Given the description of an element on the screen output the (x, y) to click on. 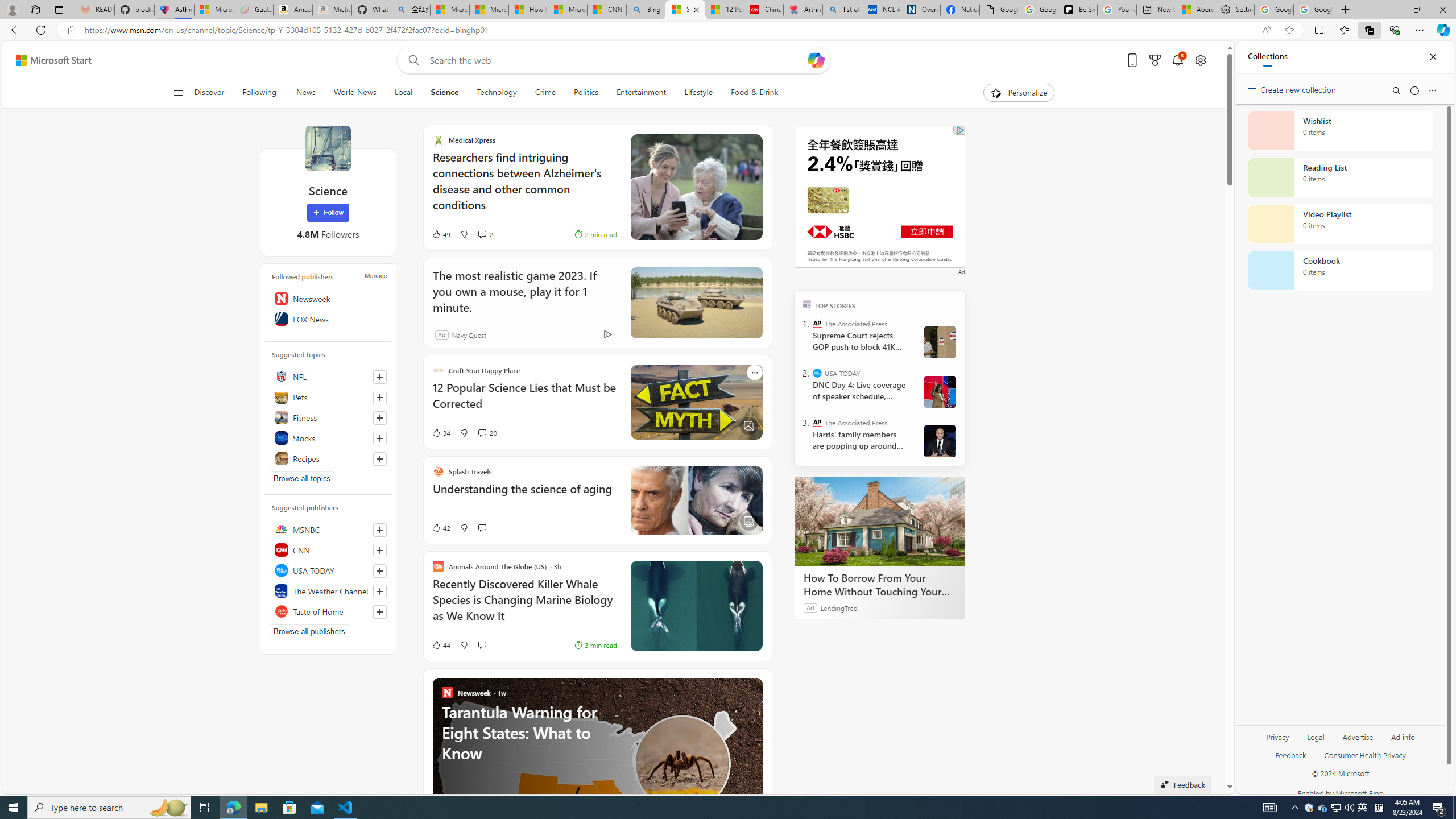
Class: button-glyph (178, 92)
list of asthma inhalers uk - Search (842, 9)
Consumer Health Privacy (1364, 759)
Open settings (1199, 60)
How I Got Rid of Microsoft Edge's Unnecessary Features (528, 9)
Technology (496, 92)
Follow this topic (379, 459)
View comments 20 Comment (487, 432)
Personalize (1019, 92)
